Given the description of an element on the screen output the (x, y) to click on. 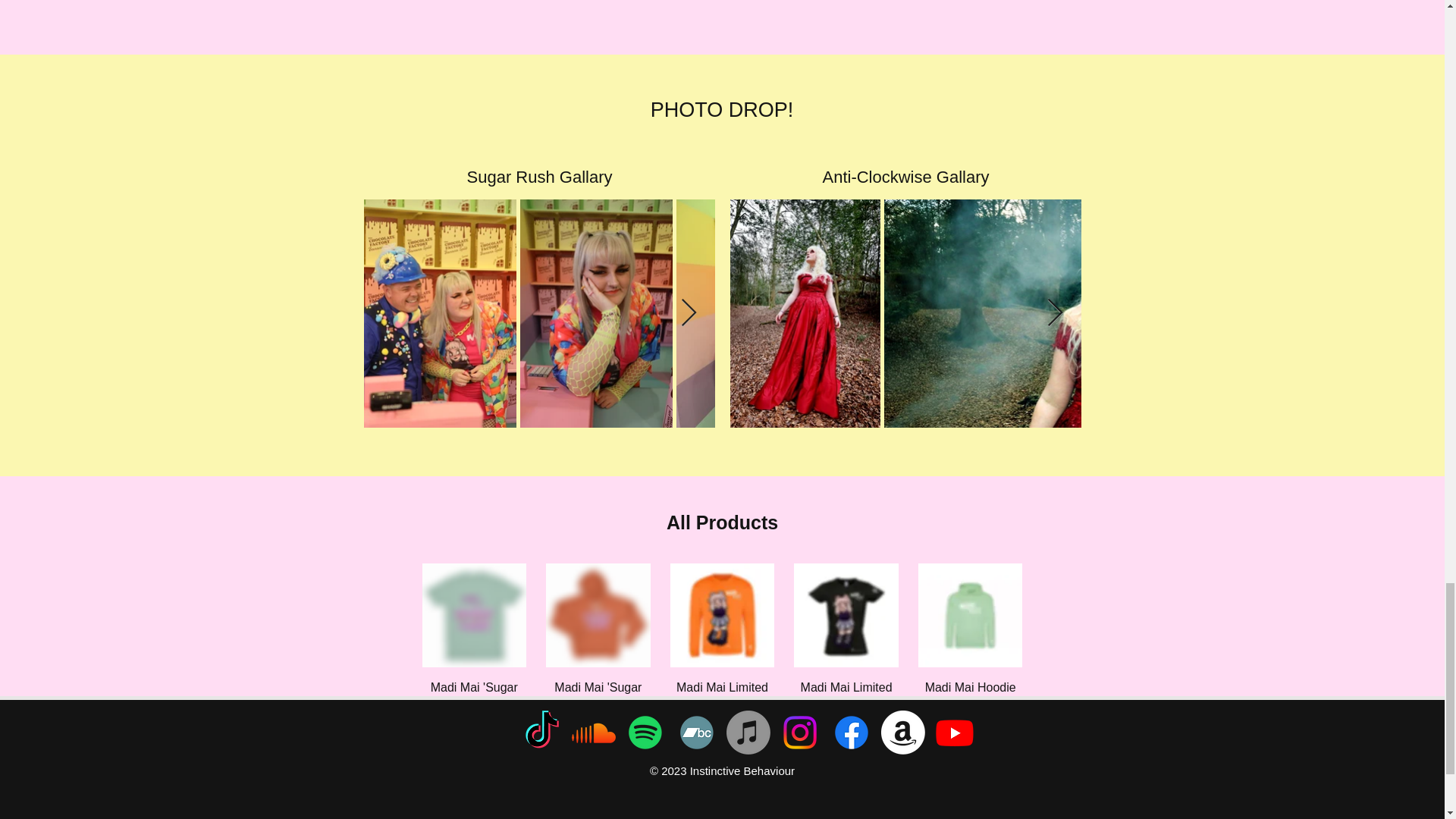
Add to Cart (598, 778)
Add to Cart (473, 778)
Add to Cart (721, 778)
